Given the description of an element on the screen output the (x, y) to click on. 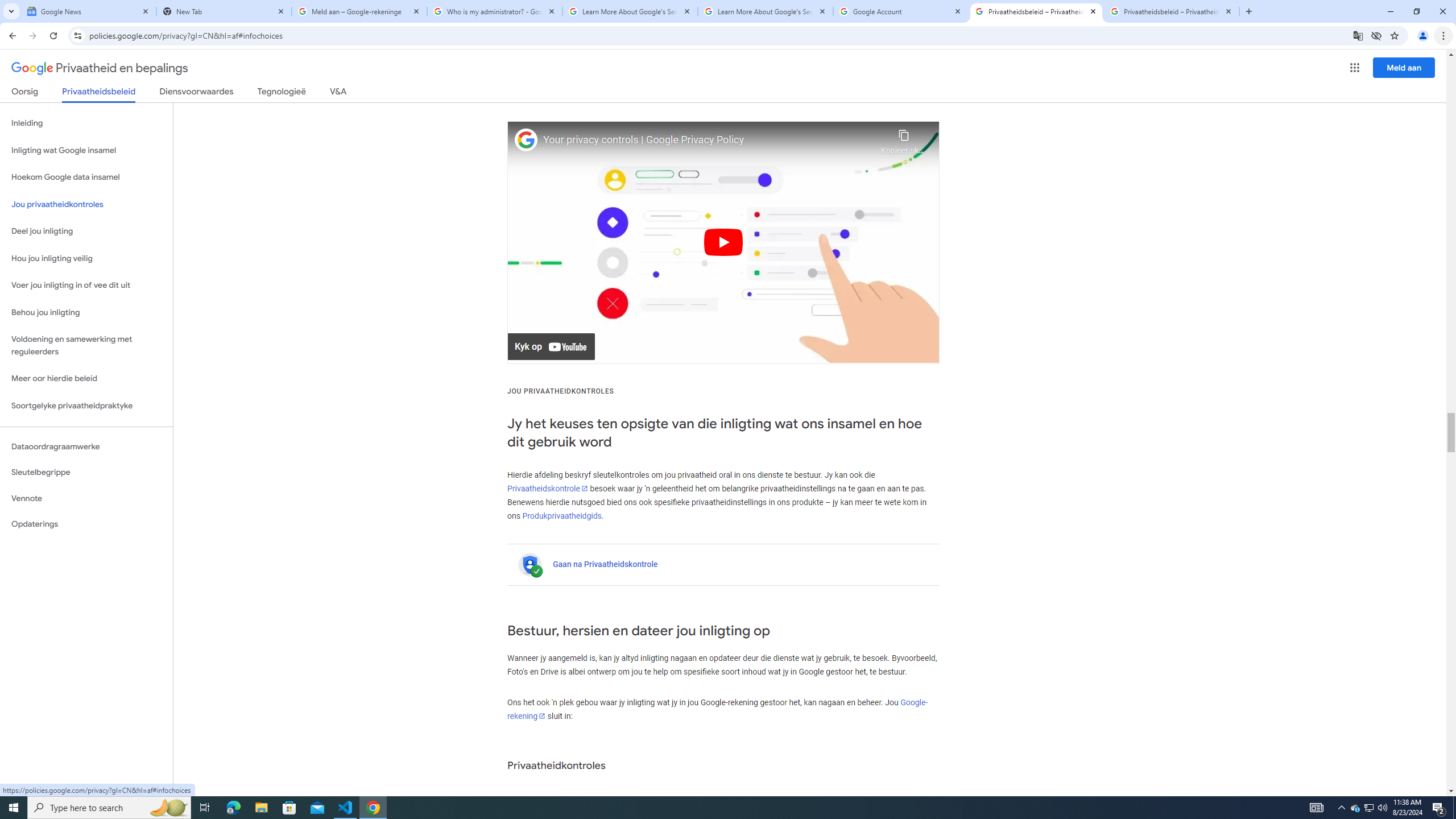
Soortgelyke privaatheidpraktyke (86, 405)
Translate this page (1358, 35)
Inligting wat Google insamel (86, 150)
New Tab (224, 11)
V&A (337, 93)
Fotobeeld van Google (526, 139)
Hou jou inligting veilig (86, 258)
Google Account (901, 11)
Opdaterings (86, 524)
Privaatheidskontrole (547, 488)
